Given the description of an element on the screen output the (x, y) to click on. 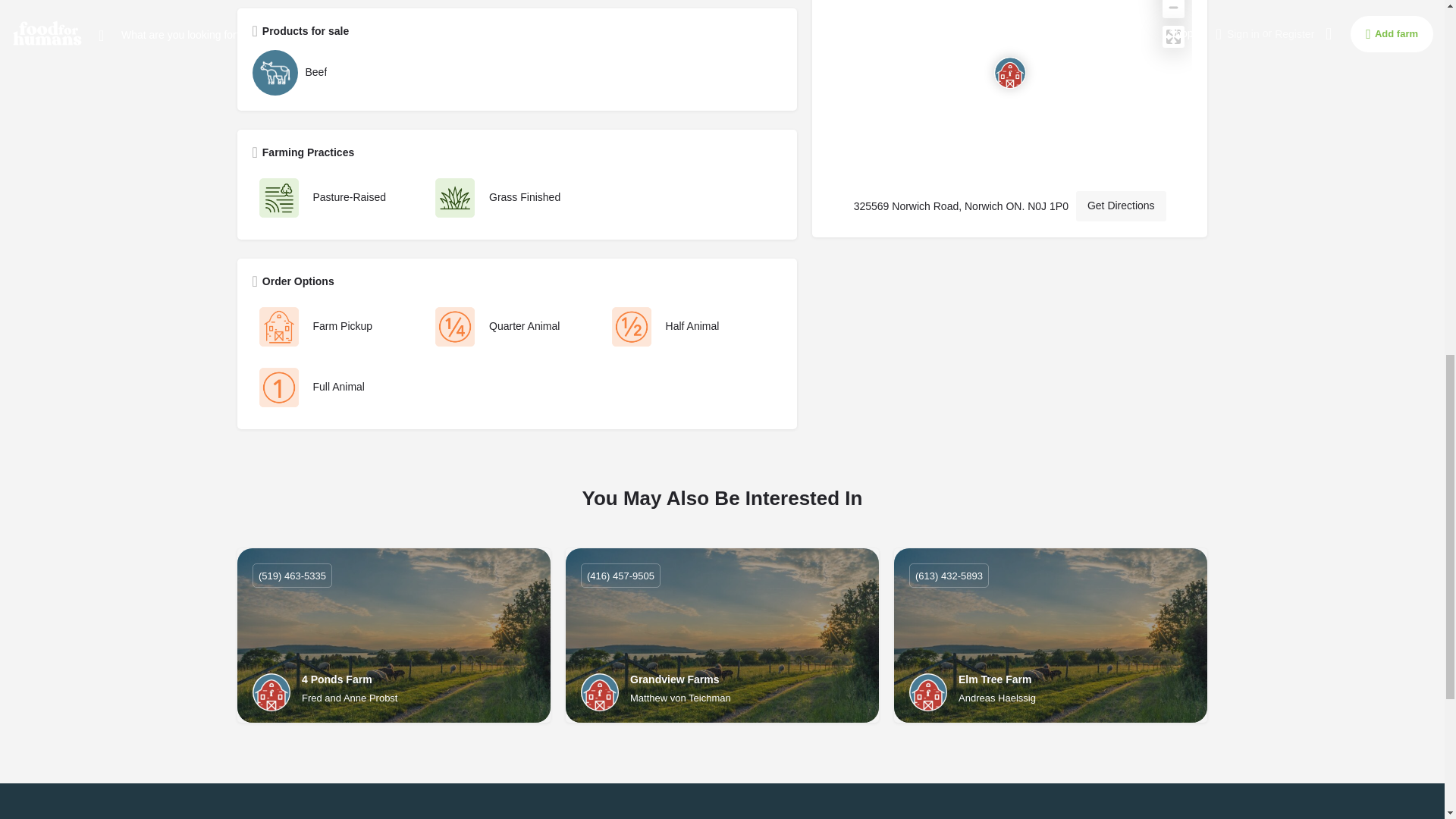
Beef (512, 72)
Full Animal (335, 387)
Zoom out (1173, 9)
Grass Finished (512, 197)
Pasture-Raised (335, 197)
Quarter Animal (512, 326)
Half Animal (689, 326)
Enter fullscreen (1173, 36)
Farm Pickup (335, 326)
